Given the description of an element on the screen output the (x, y) to click on. 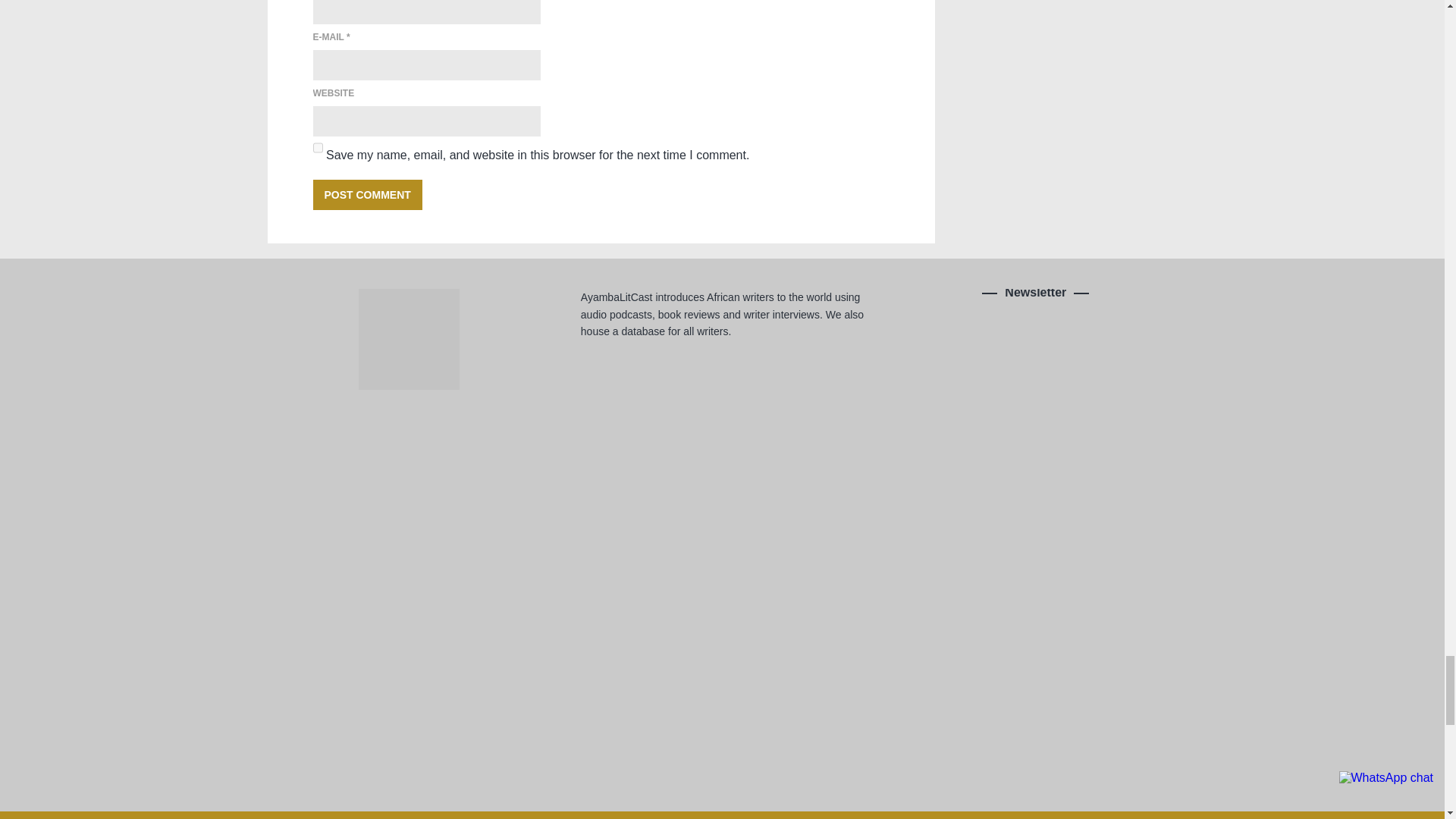
Post Comment (367, 194)
